Given the description of an element on the screen output the (x, y) to click on. 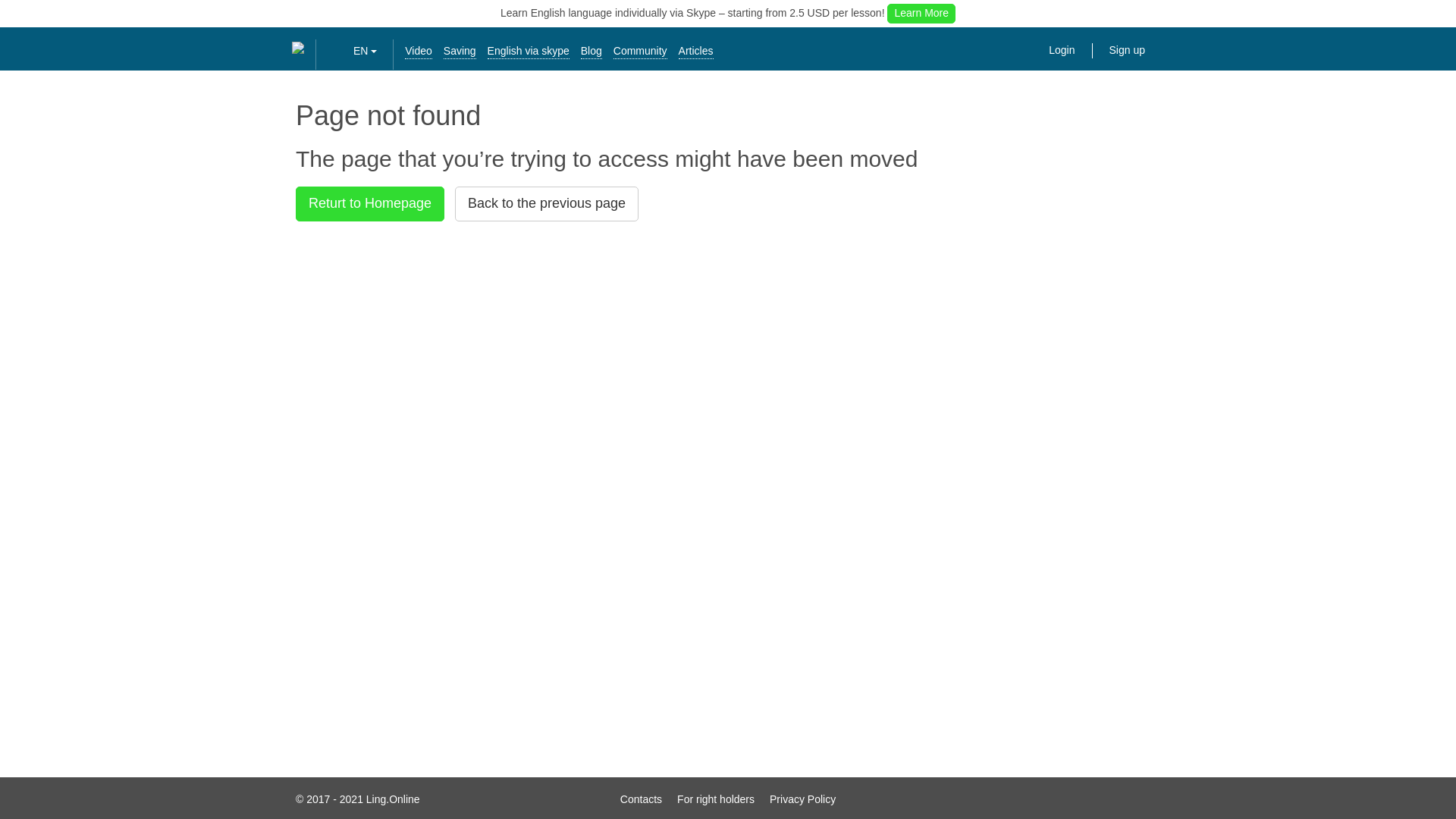
Back to the previous page (546, 203)
Contacts (641, 799)
en (339, 50)
Blog (591, 50)
Returt to Homepage (369, 203)
Community (639, 50)
Saving (460, 50)
Sign up (1127, 50)
Learn More (920, 13)
Login (1064, 50)
